Given the description of an element on the screen output the (x, y) to click on. 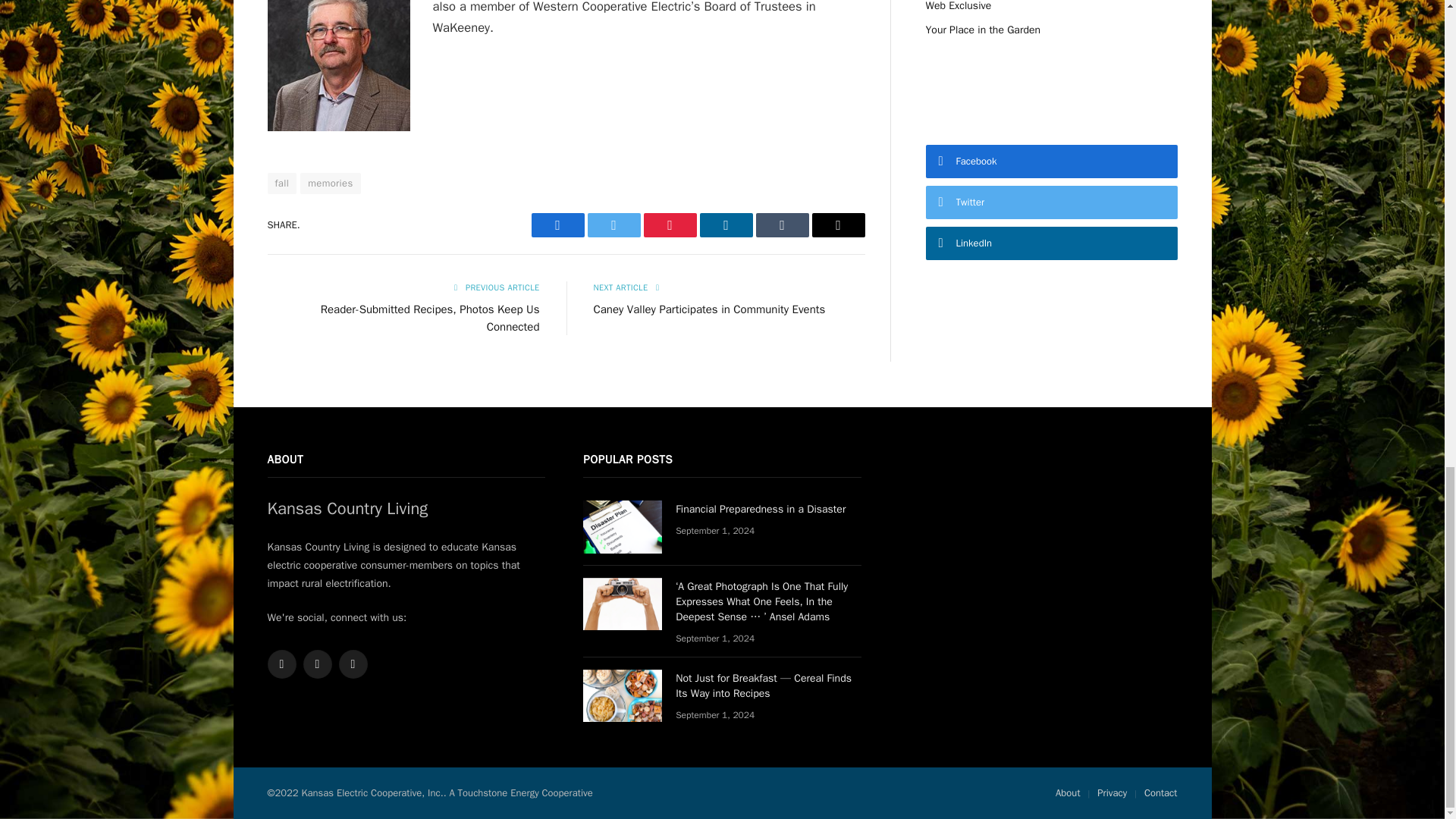
Share on Facebook (557, 224)
Share on Pinterest (669, 224)
Share on LinkedIn (725, 224)
